Given the description of an element on the screen output the (x, y) to click on. 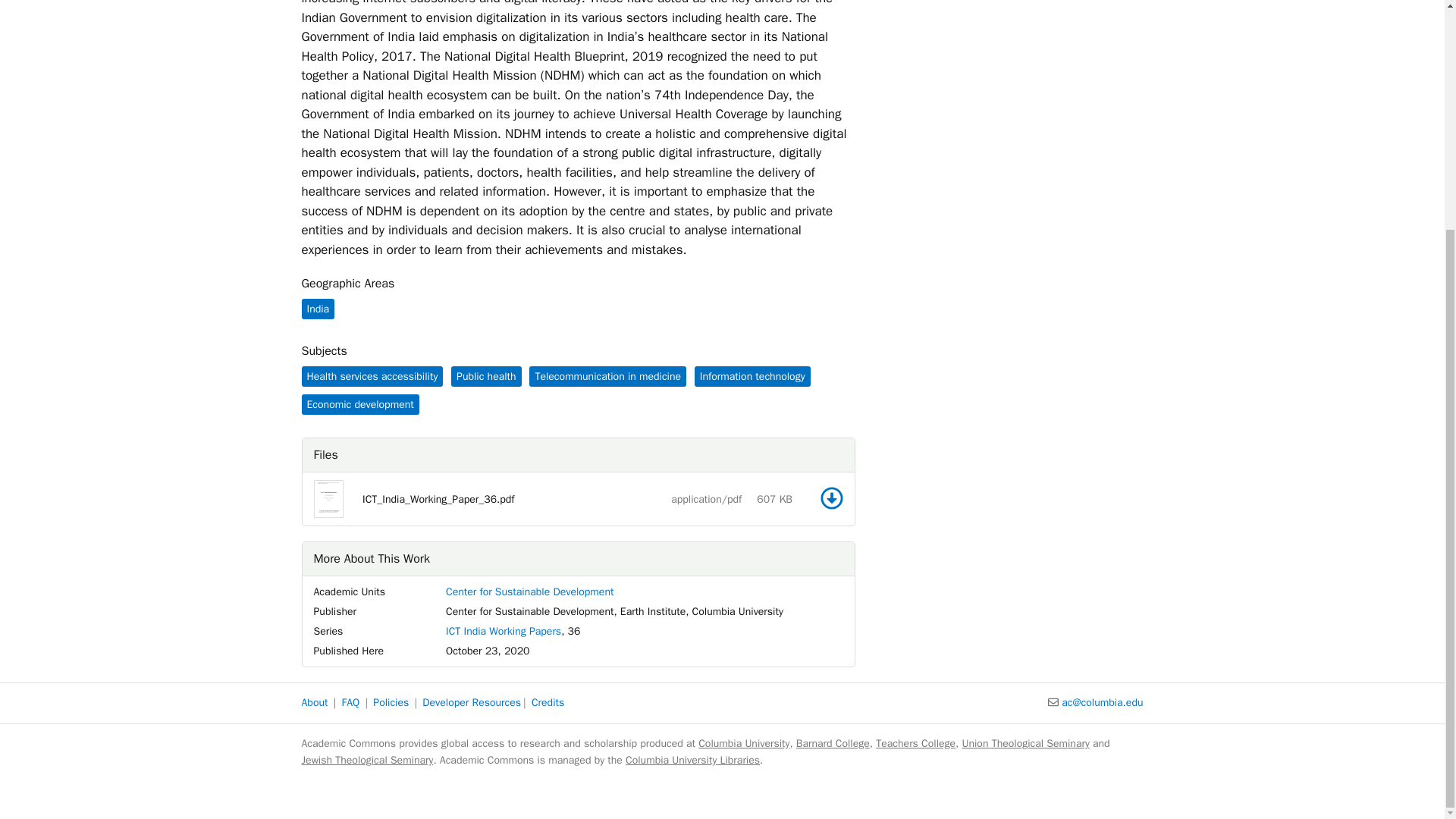
Health services accessibility (372, 376)
Telecommunication in medicine (607, 376)
Teachers College (915, 743)
Jewish Theological Seminary (367, 759)
FAQ (349, 702)
Columbia University (743, 743)
Download file (832, 497)
About (315, 702)
ICT India Working Papers (502, 631)
Columbia University Libraries (693, 759)
India (317, 308)
Information technology (752, 376)
Policies (390, 702)
Public health (486, 376)
Center for Sustainable Development (528, 591)
